Given the description of an element on the screen output the (x, y) to click on. 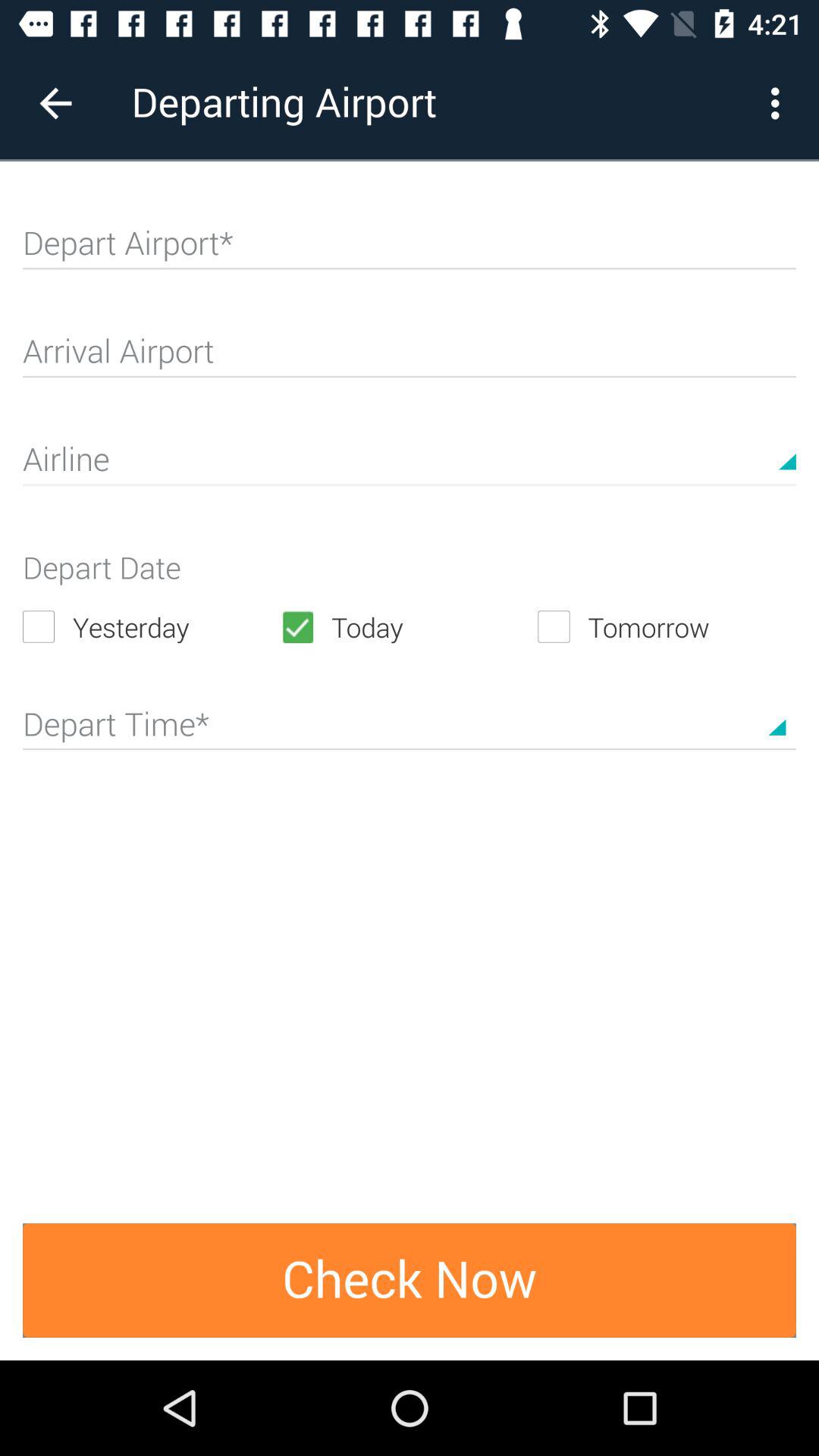
choose item next to today (151, 626)
